Given the description of an element on the screen output the (x, y) to click on. 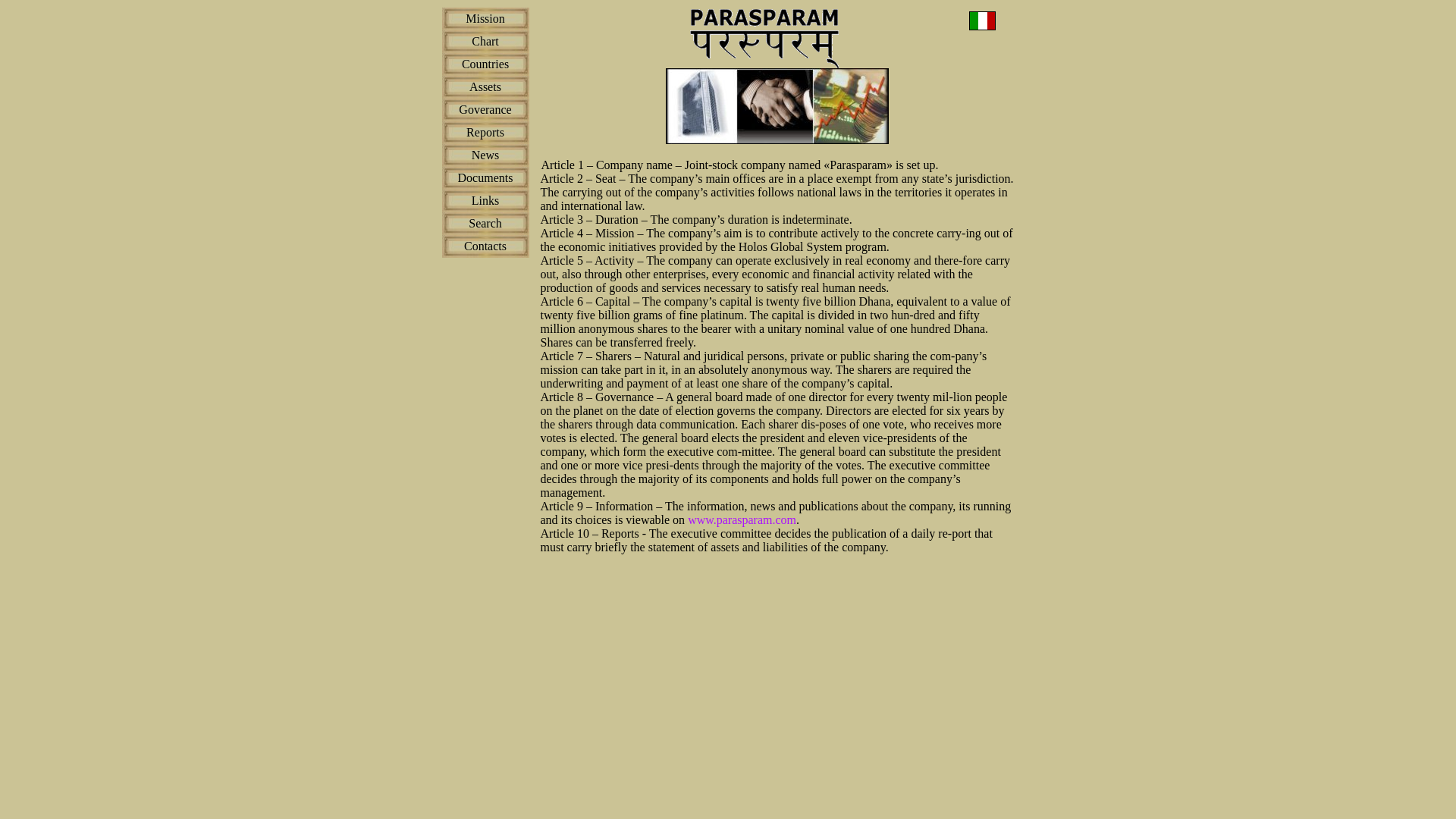
Documents (485, 177)
Contacts (485, 245)
Mission (485, 18)
Goverance (484, 109)
Search (485, 223)
Chart (485, 41)
Links (485, 200)
www.parasparam.com (741, 519)
Countries (484, 63)
Reports (484, 132)
